Given the description of an element on the screen output the (x, y) to click on. 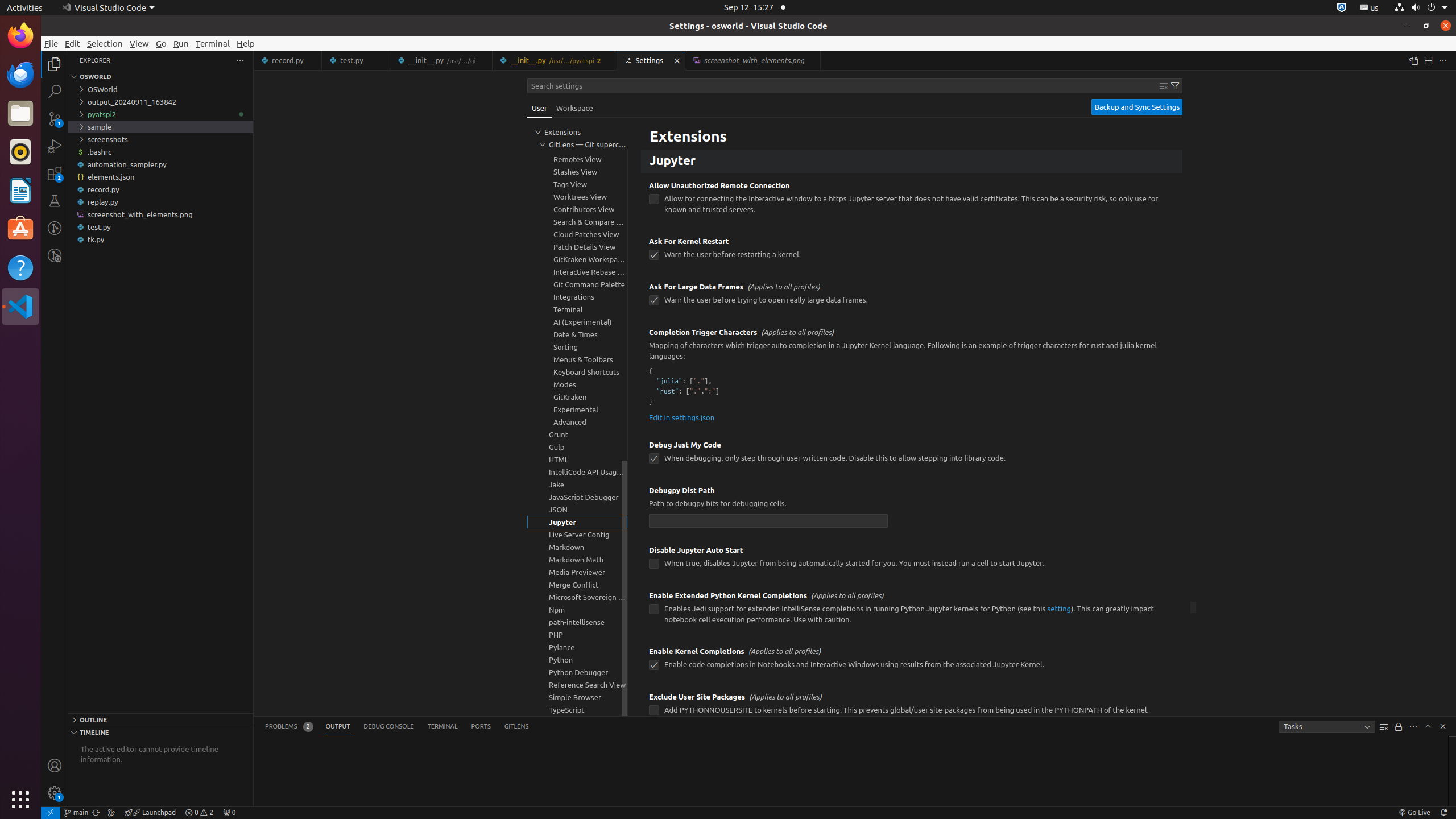
Outline Section Element type: push-button (160, 719)
Experimental, group Element type: tree-item (577, 409)
path-intellisense, group Element type: tree-item (577, 621)
Edit in settings.json: jupyter.completionTriggerCharacters Element type: push-button (681, 416)
